Given the description of an element on the screen output the (x, y) to click on. 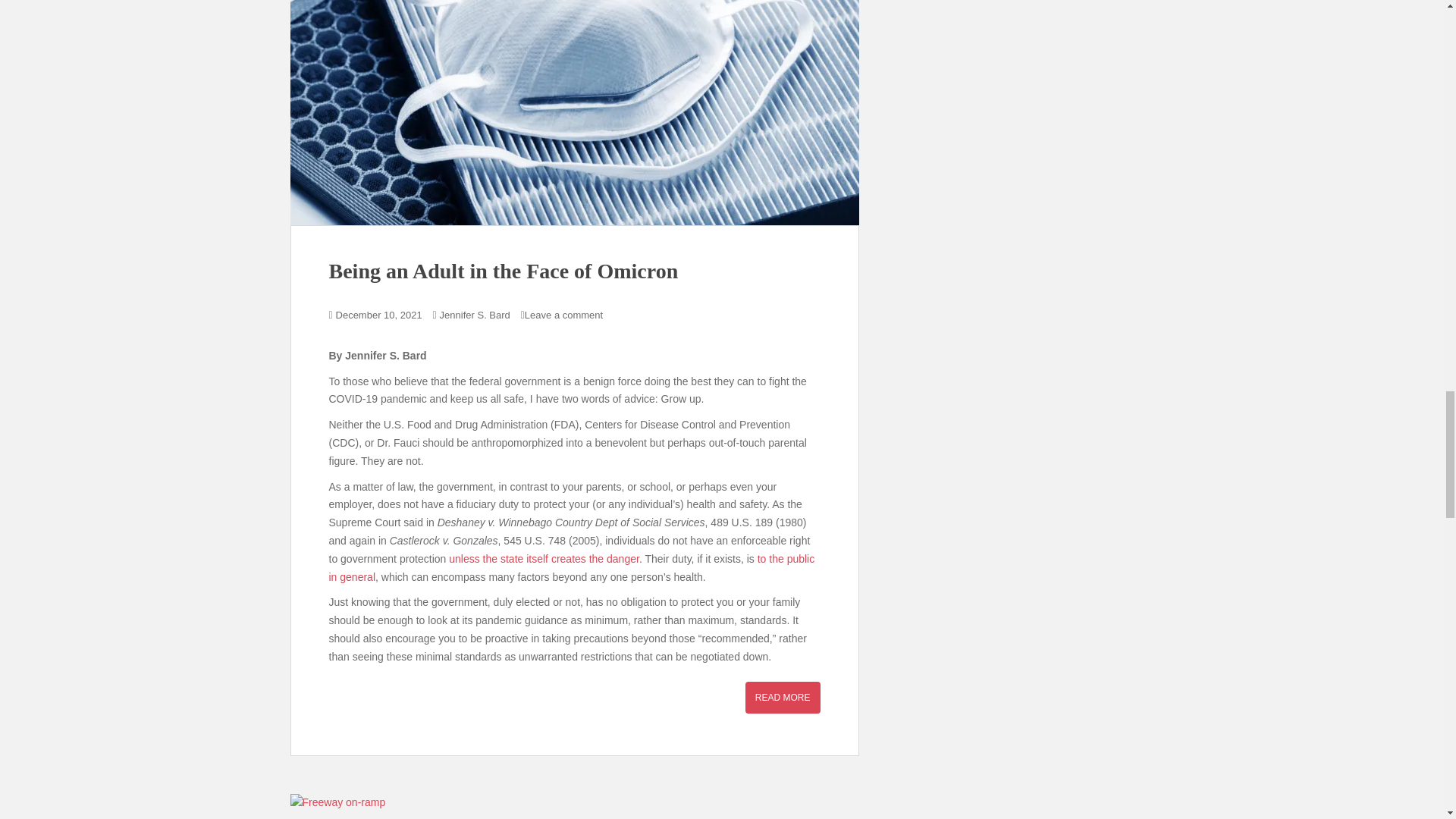
Jennifer S. Bard (475, 315)
Being an Adult in the Face of Omicron (574, 112)
Being an Adult in the Face of Omicron (503, 270)
Leave a comment (563, 315)
December 10, 2021 (379, 315)
